Given the description of an element on the screen output the (x, y) to click on. 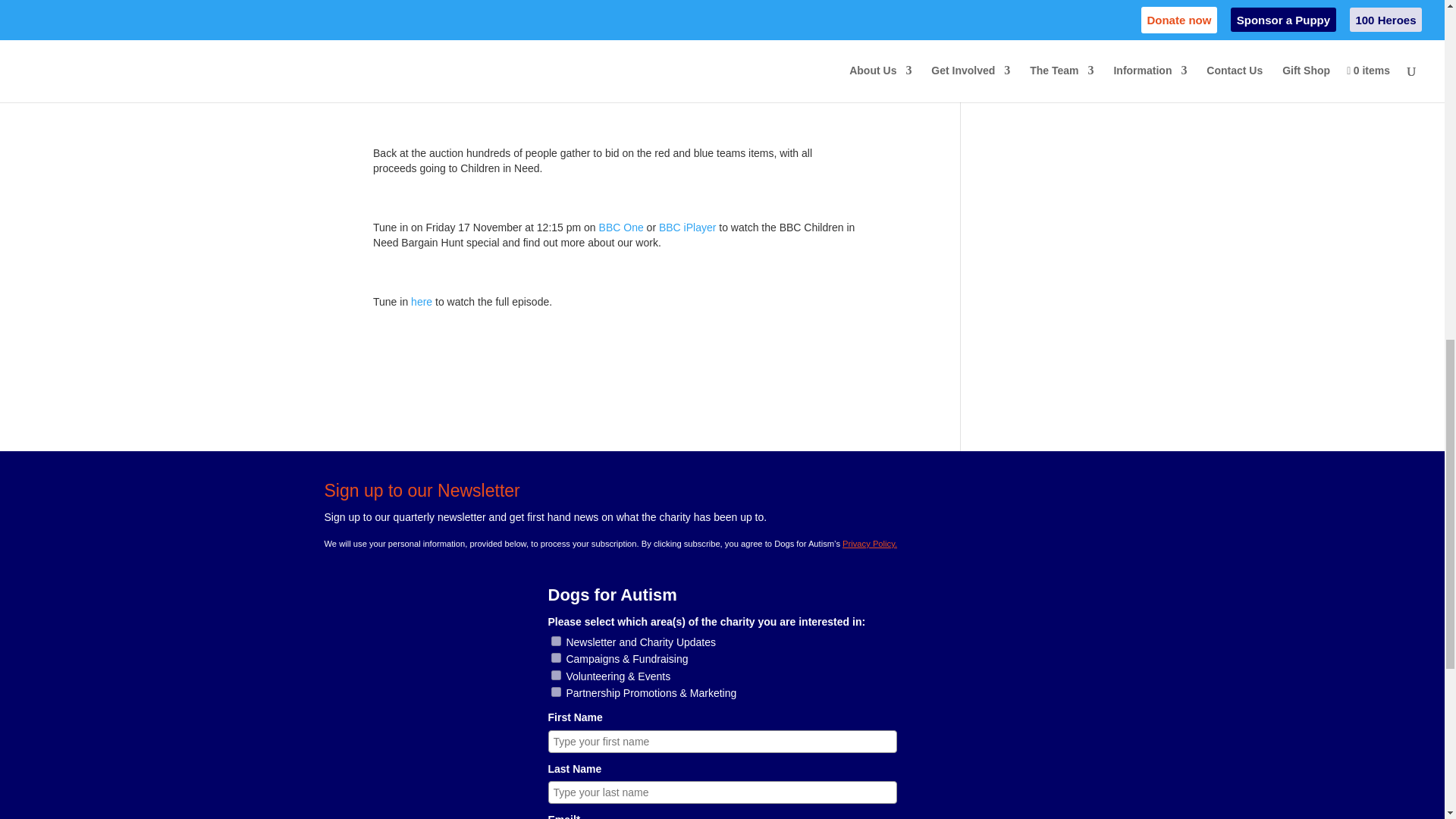
Newsletter and Charity Updates (555, 641)
